Given the description of an element on the screen output the (x, y) to click on. 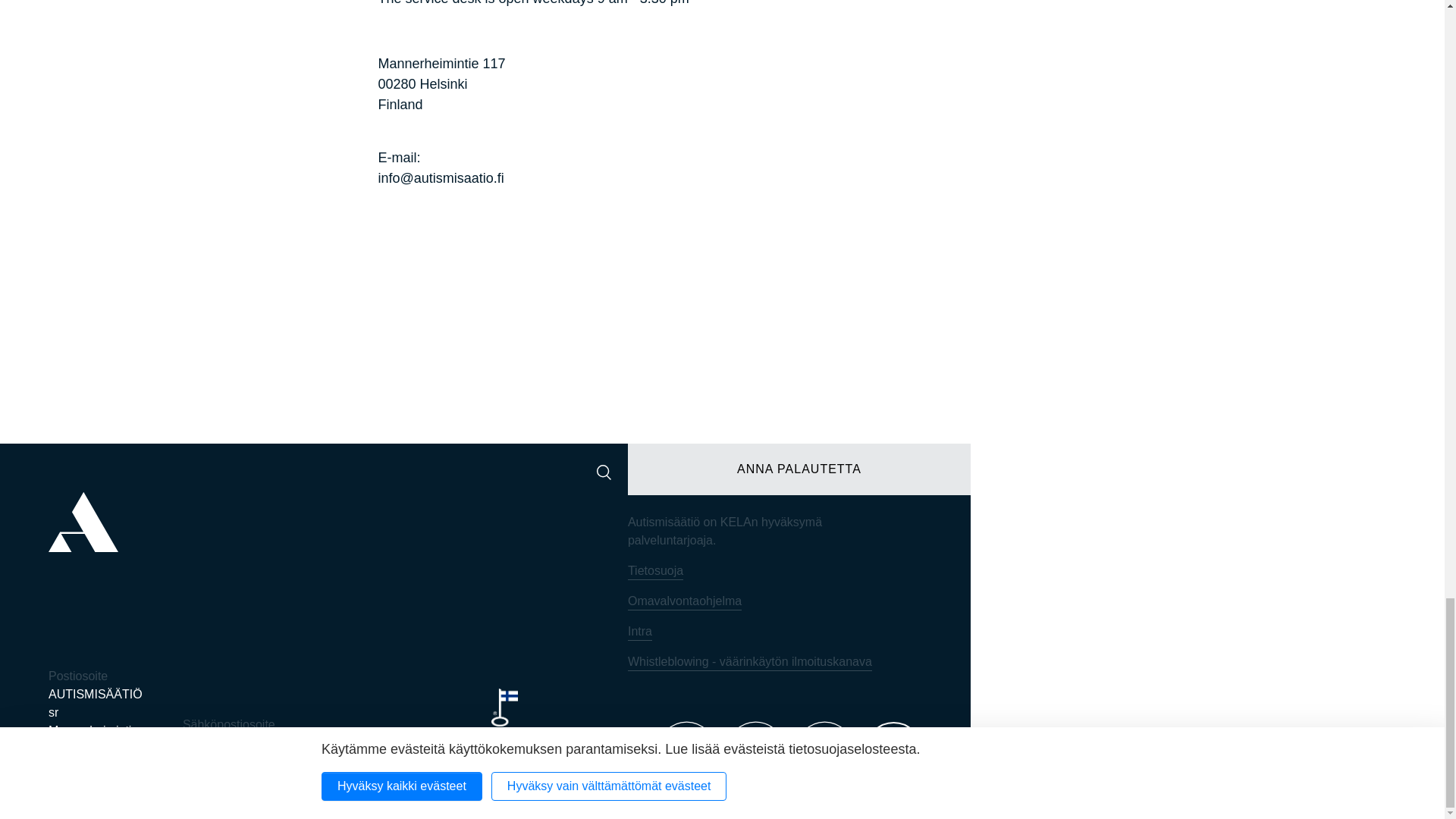
Tietosuoja (654, 570)
Omavalvontaohjelma (684, 601)
ANNA PALAUTETTA (799, 469)
Intra (639, 631)
